Given the description of an element on the screen output the (x, y) to click on. 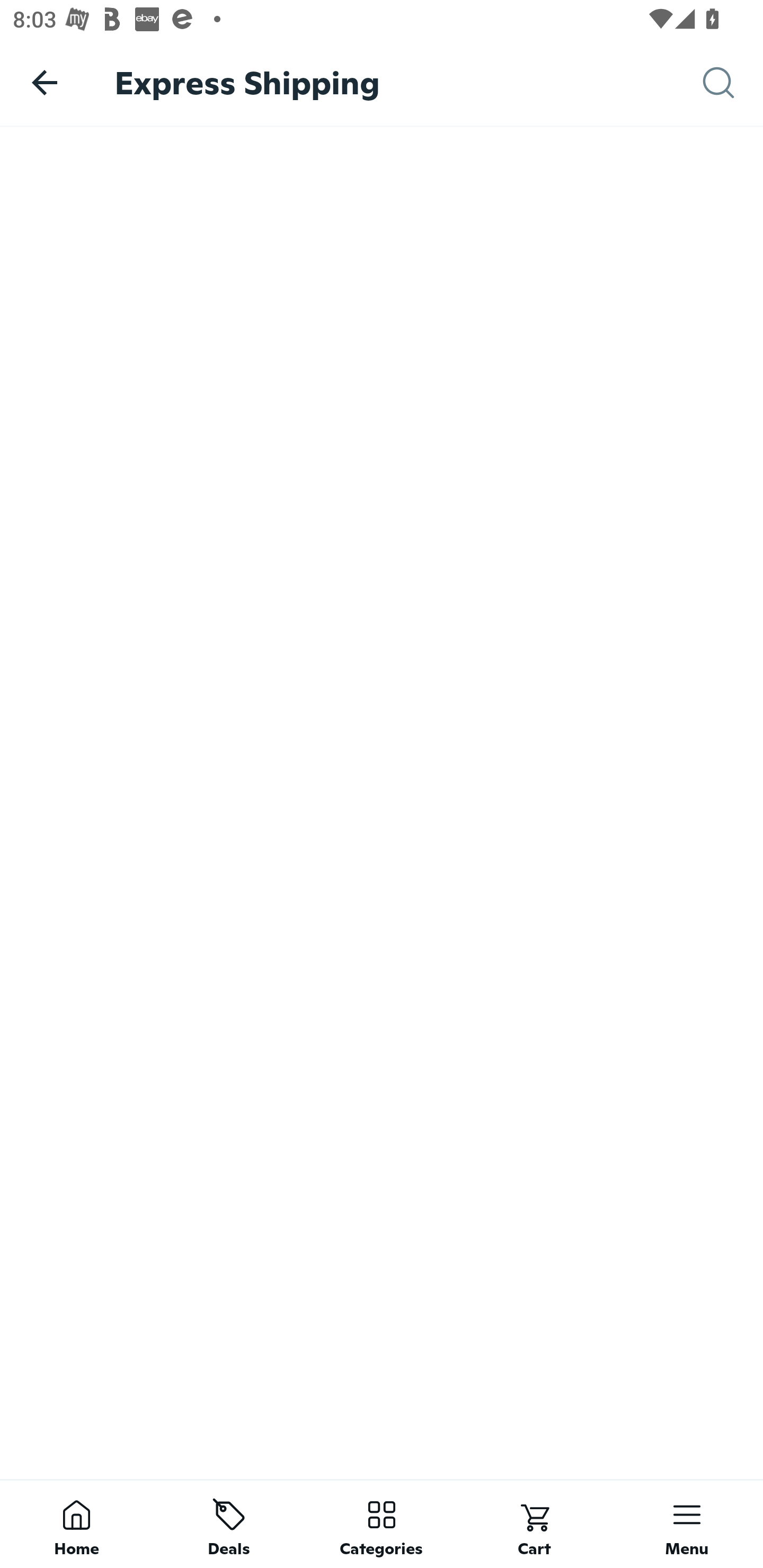
Navigate up (44, 82)
Search (732, 82)
Home (76, 1523)
Deals (228, 1523)
Categories (381, 1523)
Cart (533, 1523)
Menu (686, 1523)
